Given the description of an element on the screen output the (x, y) to click on. 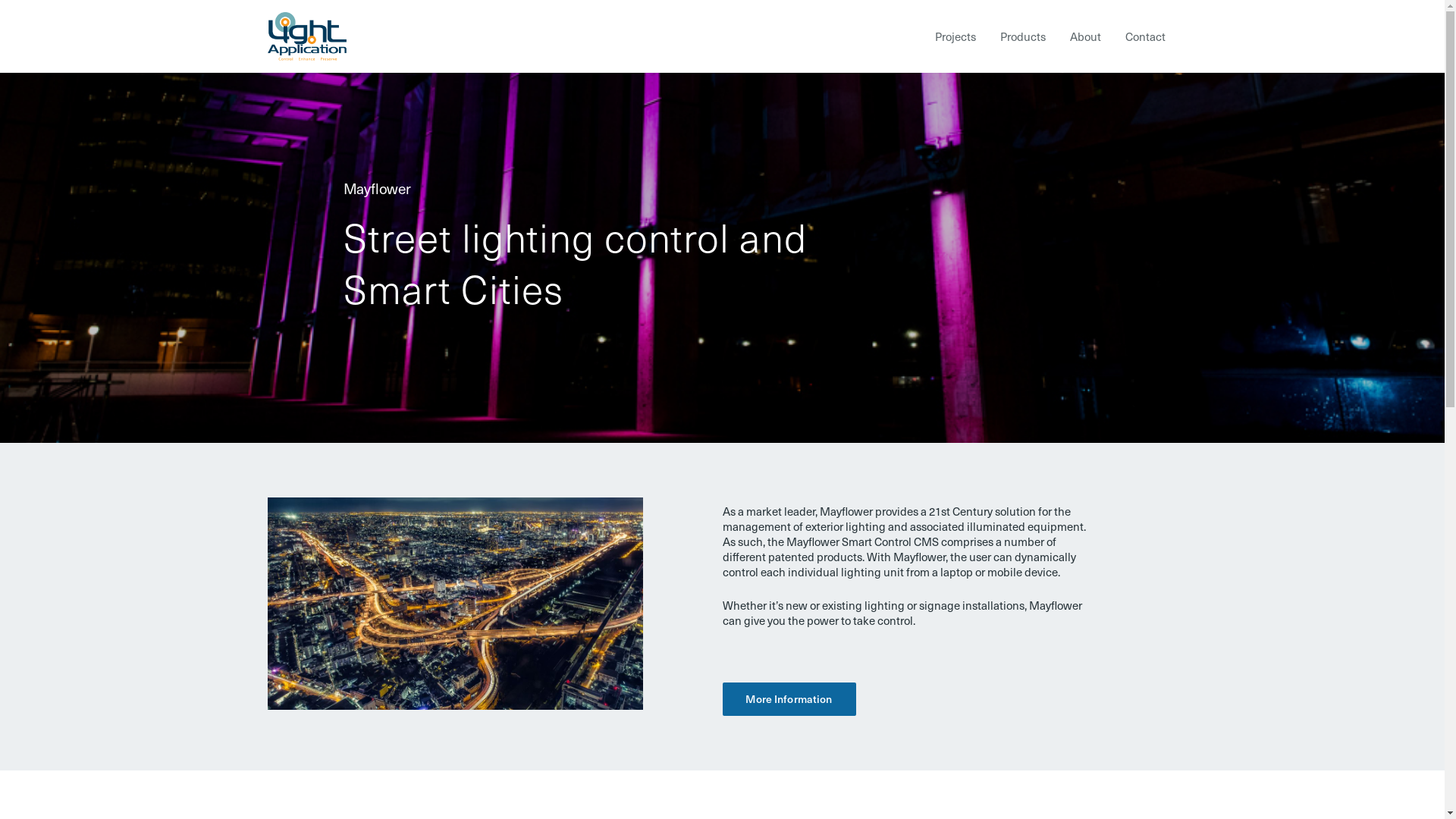
Projects Element type: text (954, 36)
More Information Element type: text (788, 698)
About Element type: text (1084, 36)
Products Element type: text (1022, 36)
Contact Element type: text (1145, 36)
